Given the description of an element on the screen output the (x, y) to click on. 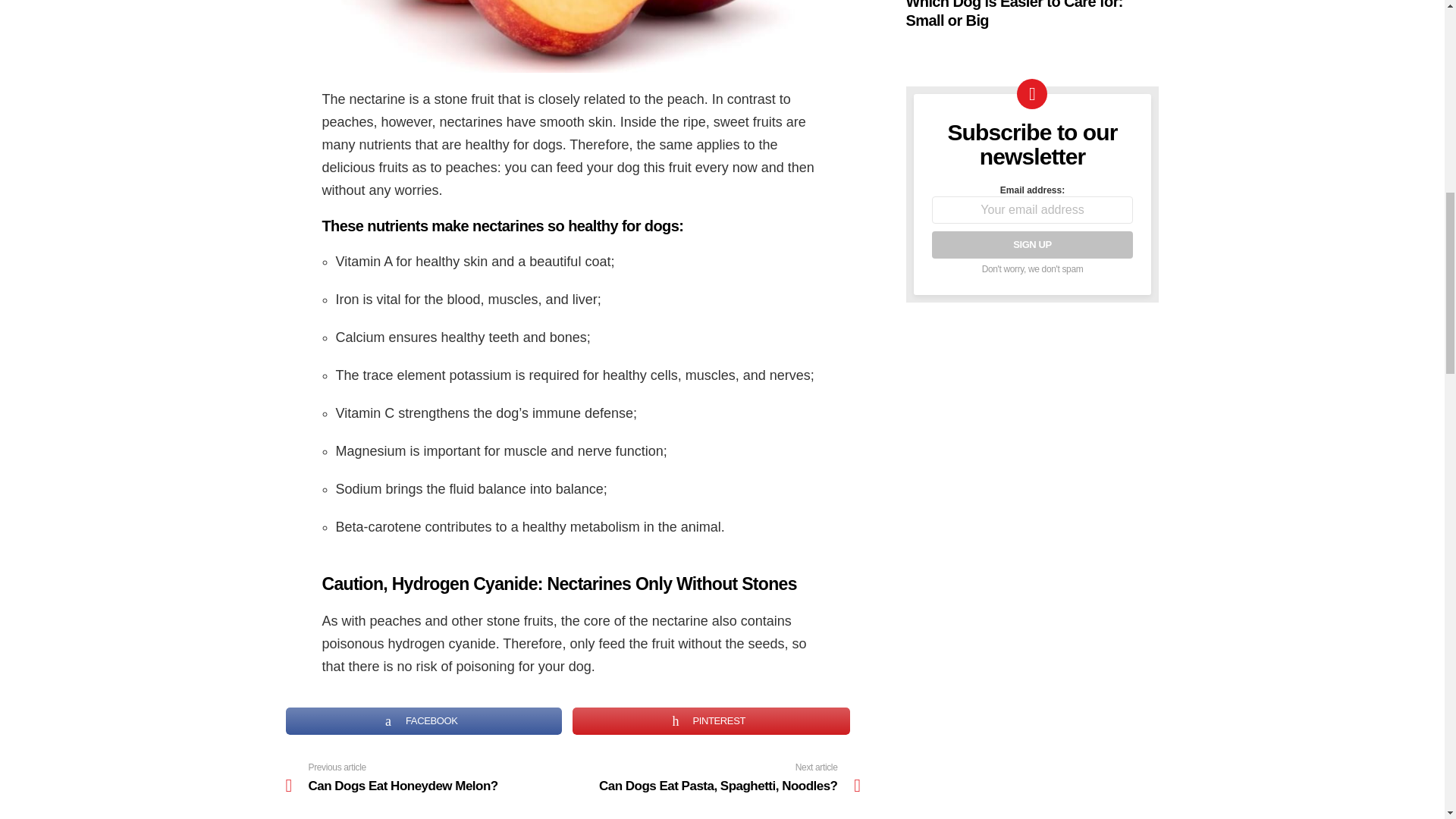
Share on Facebook (422, 720)
PINTEREST (428, 777)
FACEBOOK (711, 720)
Sign up (422, 720)
Share on Pinterest (1031, 244)
